Given the description of an element on the screen output the (x, y) to click on. 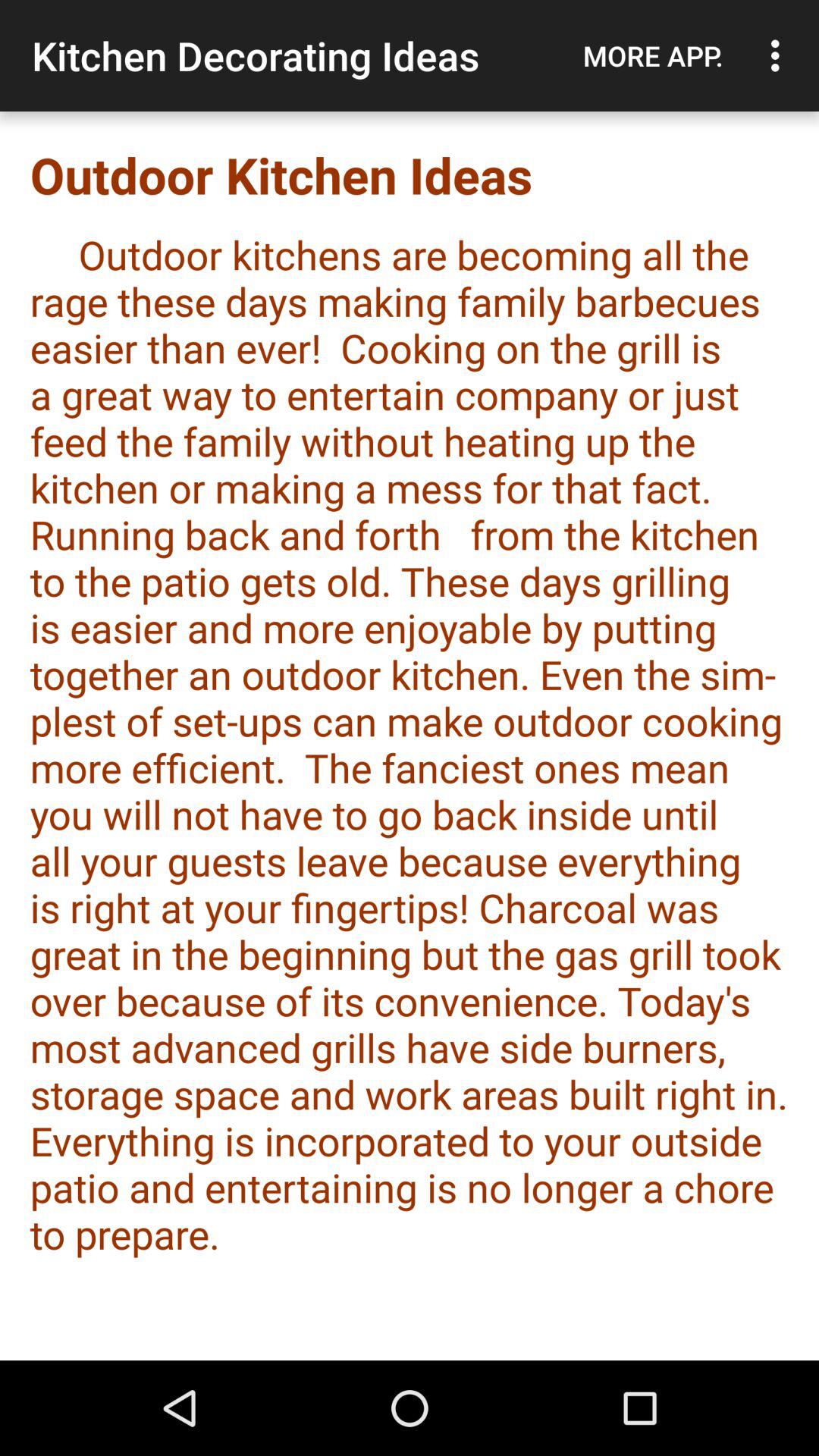
turn off the item to the right of the more app. (779, 55)
